Given the description of an element on the screen output the (x, y) to click on. 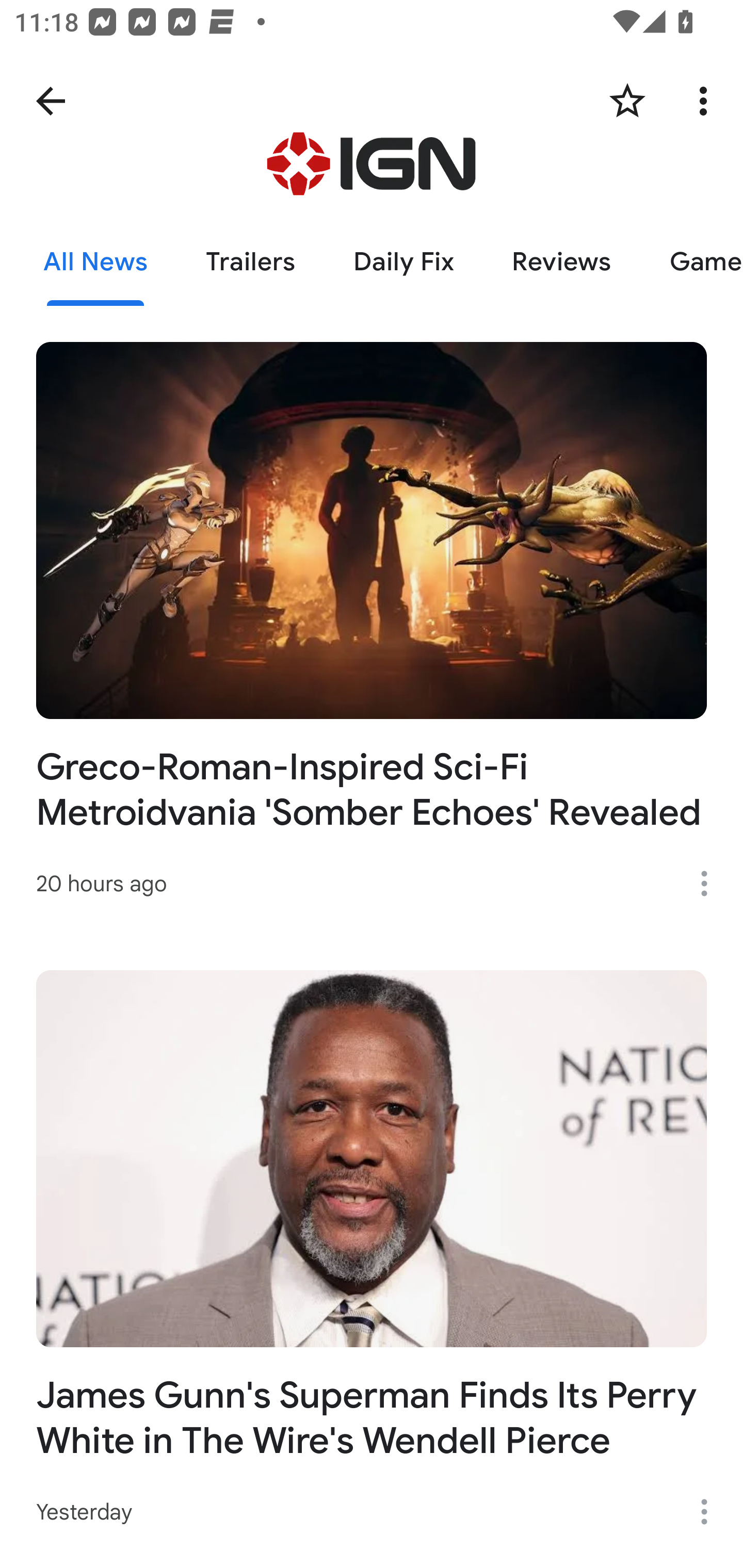
Navigate up (50, 101)
Follow (626, 101)
More options (706, 101)
Trailers (249, 262)
Daily Fix (402, 262)
Reviews (561, 262)
Games (691, 262)
More options (711, 883)
More options (711, 1511)
